Given the description of an element on the screen output the (x, y) to click on. 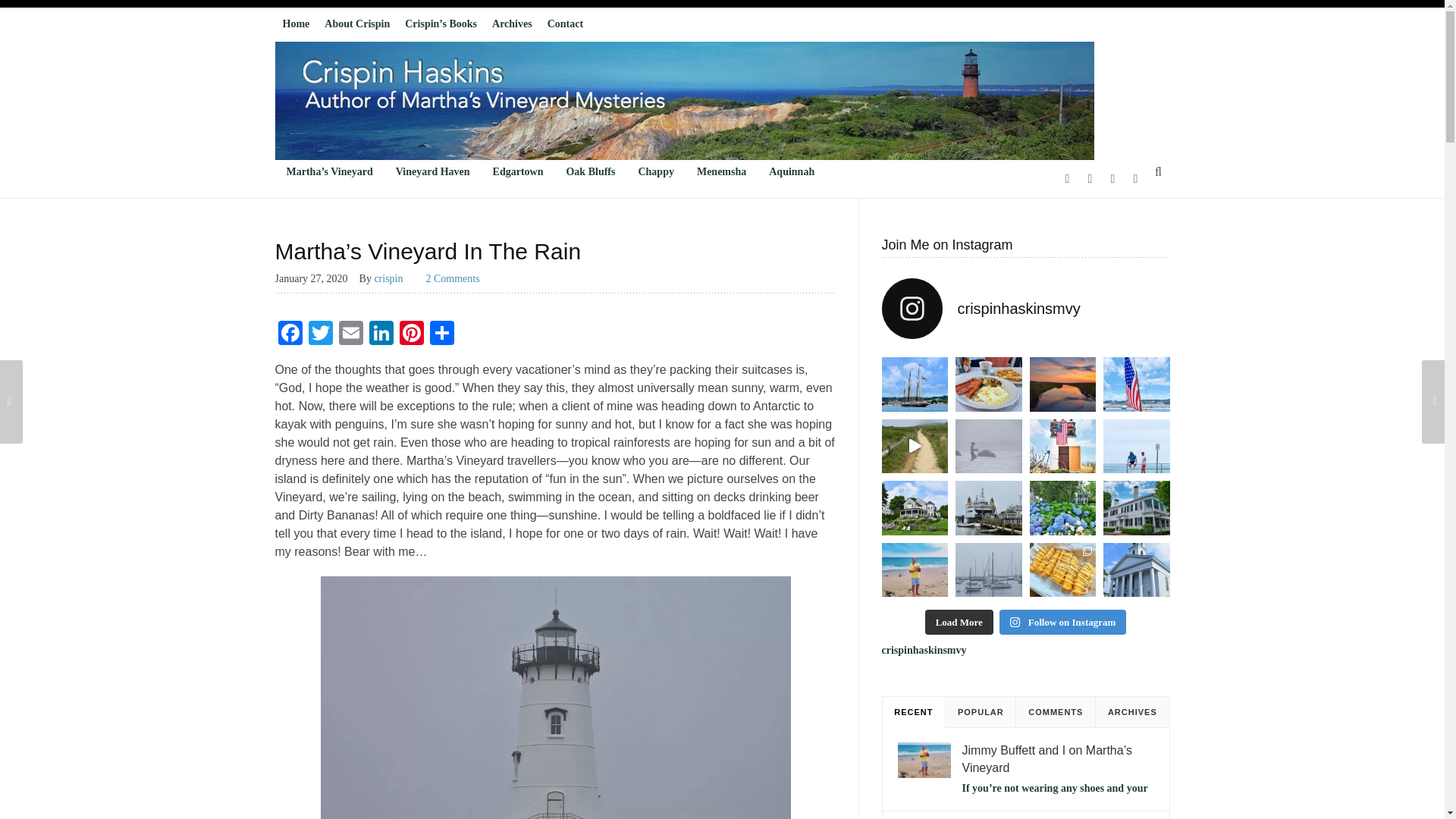
Crispin Haskins (684, 100)
Pinterest (411, 334)
Home (296, 23)
Edgartown (517, 171)
Menemsha (721, 171)
LinkedIn (380, 334)
Vineyard Haven (432, 171)
Oak Bluffs (590, 171)
Twitter (319, 334)
Email (349, 334)
Chappy (655, 171)
View all posts by crispin (393, 278)
Display Search Form (1158, 171)
crispin (393, 278)
2 Comments (453, 278)
